Given the description of an element on the screen output the (x, y) to click on. 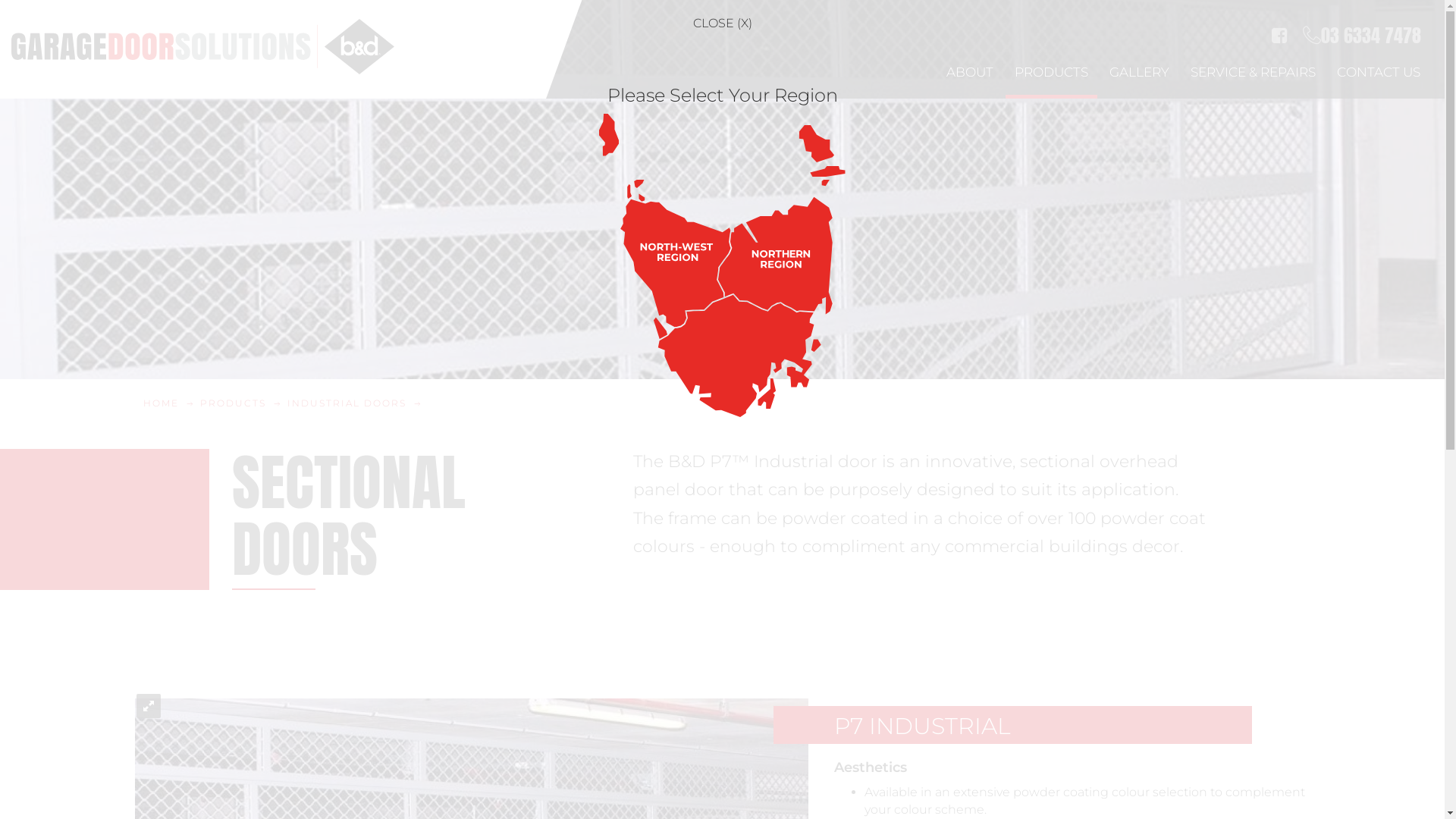
INDUSTRIAL DOORS Element type: text (346, 402)
PRODUCTS Element type: text (1051, 71)
03 6334 7478 Element type: text (1361, 24)
GALLERY Element type: text (1139, 71)
CONTACT US Element type: text (1378, 71)
PRODUCTS Element type: text (233, 402)
SERVICE & REPAIRS Element type: text (1252, 71)
ABOUT Element type: text (969, 71)
HOME Element type: text (160, 402)
logo logo Element type: text (208, 48)
